Given the description of an element on the screen output the (x, y) to click on. 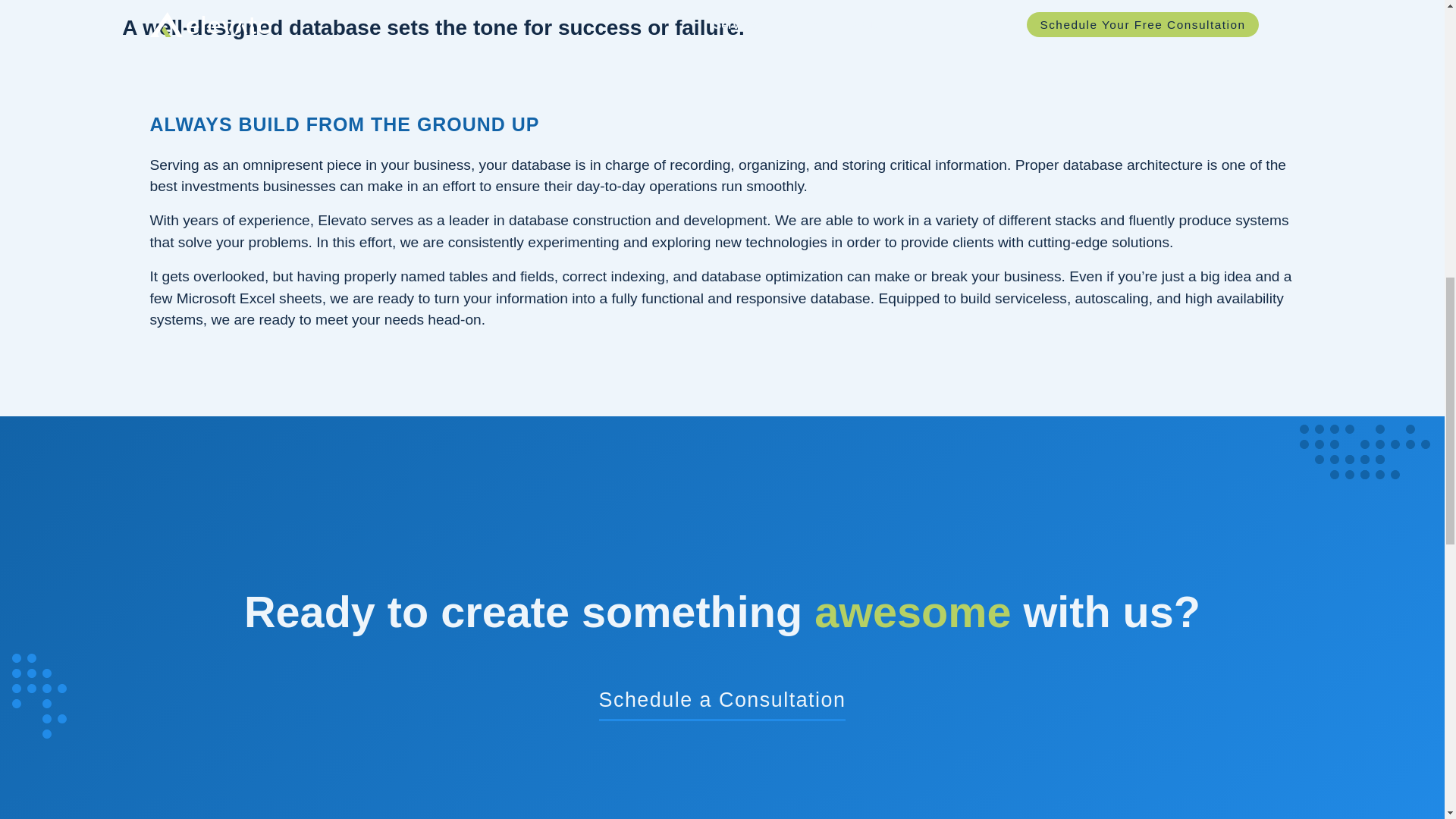
Schedule a Consultation (721, 700)
